Given the description of an element on the screen output the (x, y) to click on. 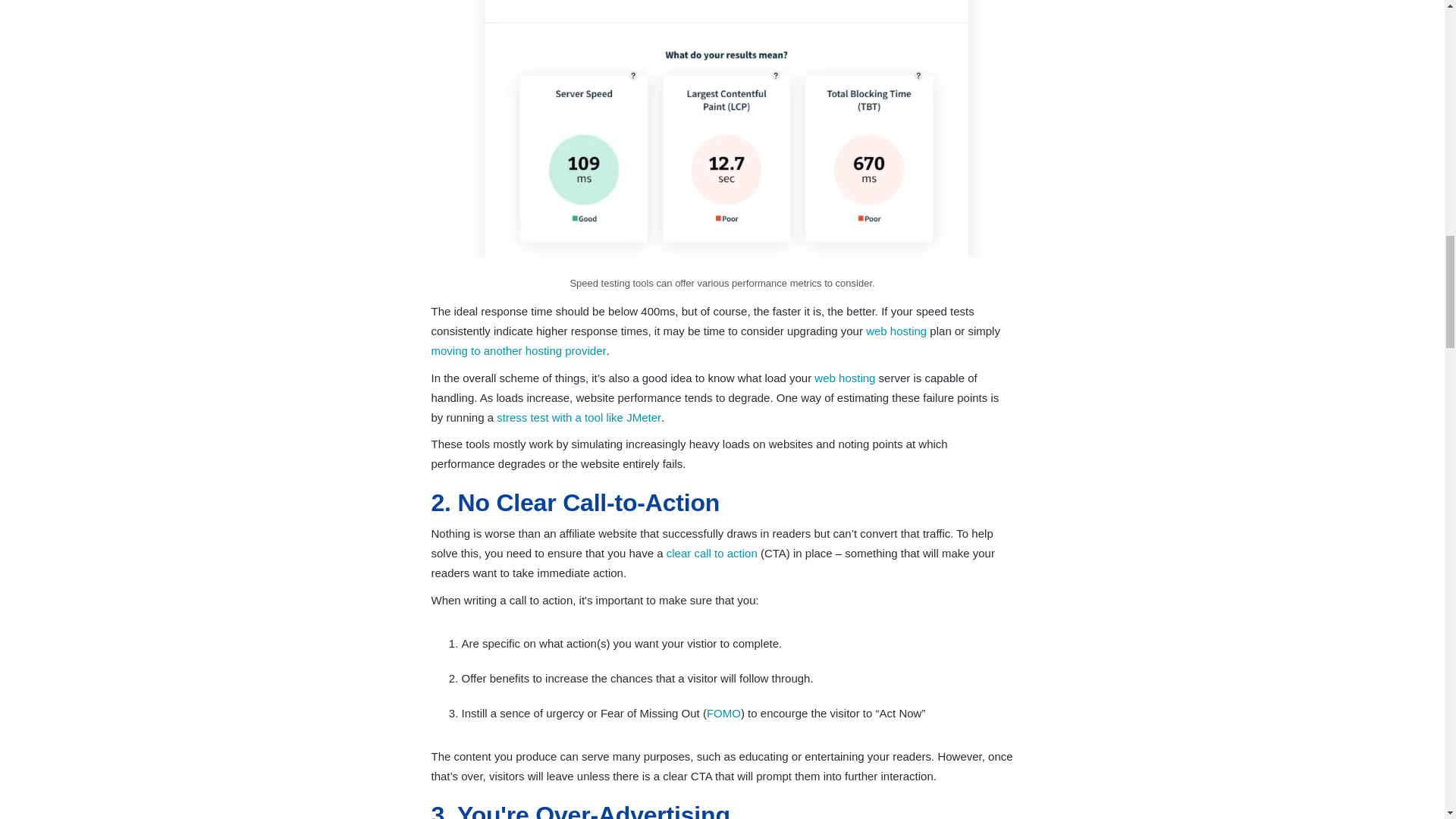
FOMO (723, 712)
FOMO Affiliate Link (723, 712)
WPengine Affiliate Link (844, 377)
clear call to action (711, 553)
stress test with a tool like JMeter (578, 417)
web hosting (844, 377)
web hosting (896, 330)
moving to another hosting provider (517, 350)
WPengine Affiliate Link (896, 330)
